Given the description of an element on the screen output the (x, y) to click on. 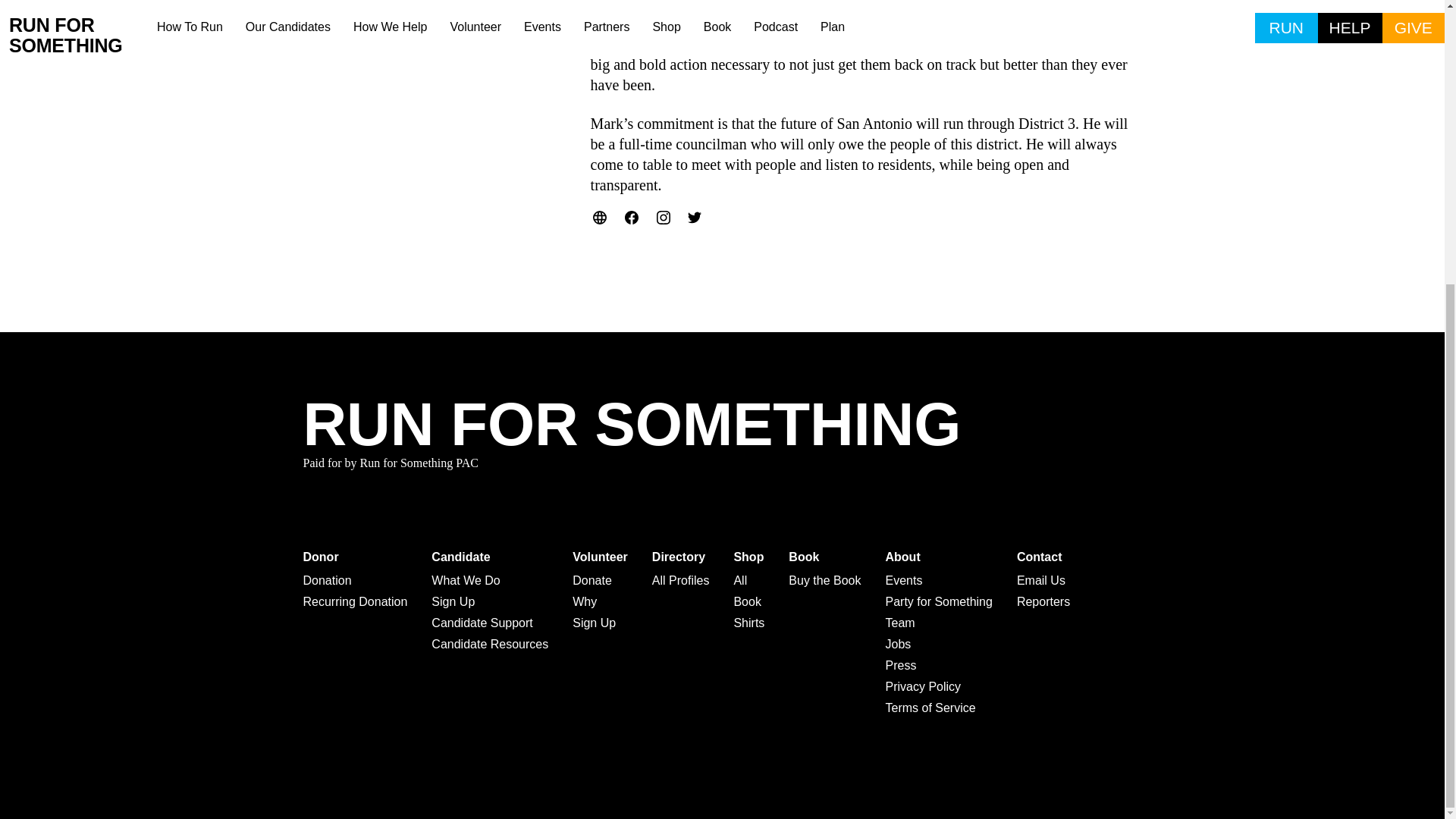
Donate (599, 580)
All Profiles (681, 580)
Candidate (489, 557)
What We Do (489, 580)
Book (824, 557)
Recurring Donation (354, 601)
Donation (354, 580)
All (748, 580)
Candidate Resources (489, 644)
Donor (354, 557)
Shirts (748, 622)
Book (748, 601)
Buy the Book (824, 580)
Candidate Support (489, 622)
RUN FOR SOMETHING (631, 424)
